Given the description of an element on the screen output the (x, y) to click on. 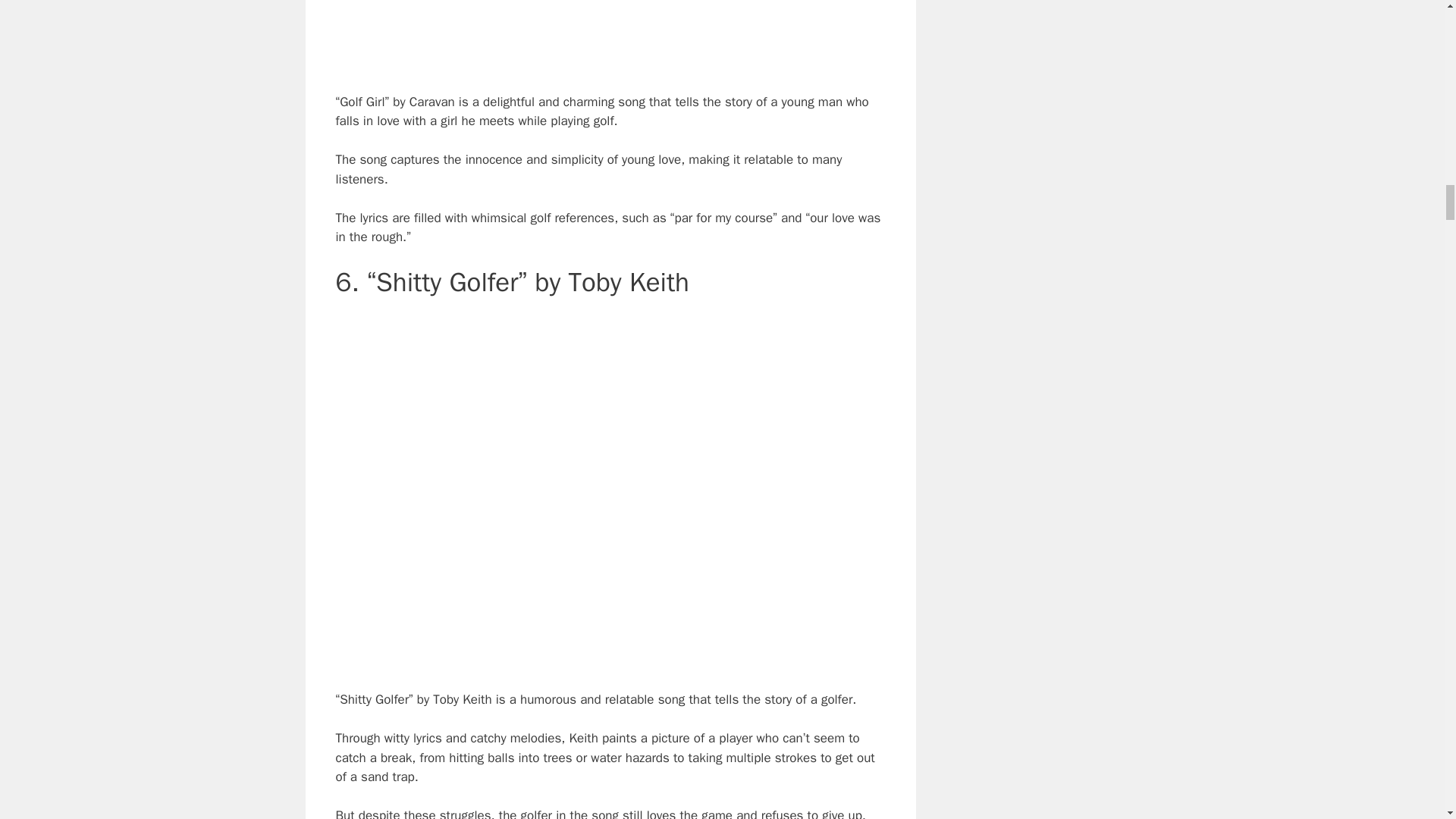
Golf Girl (609, 33)
